Given the description of an element on the screen output the (x, y) to click on. 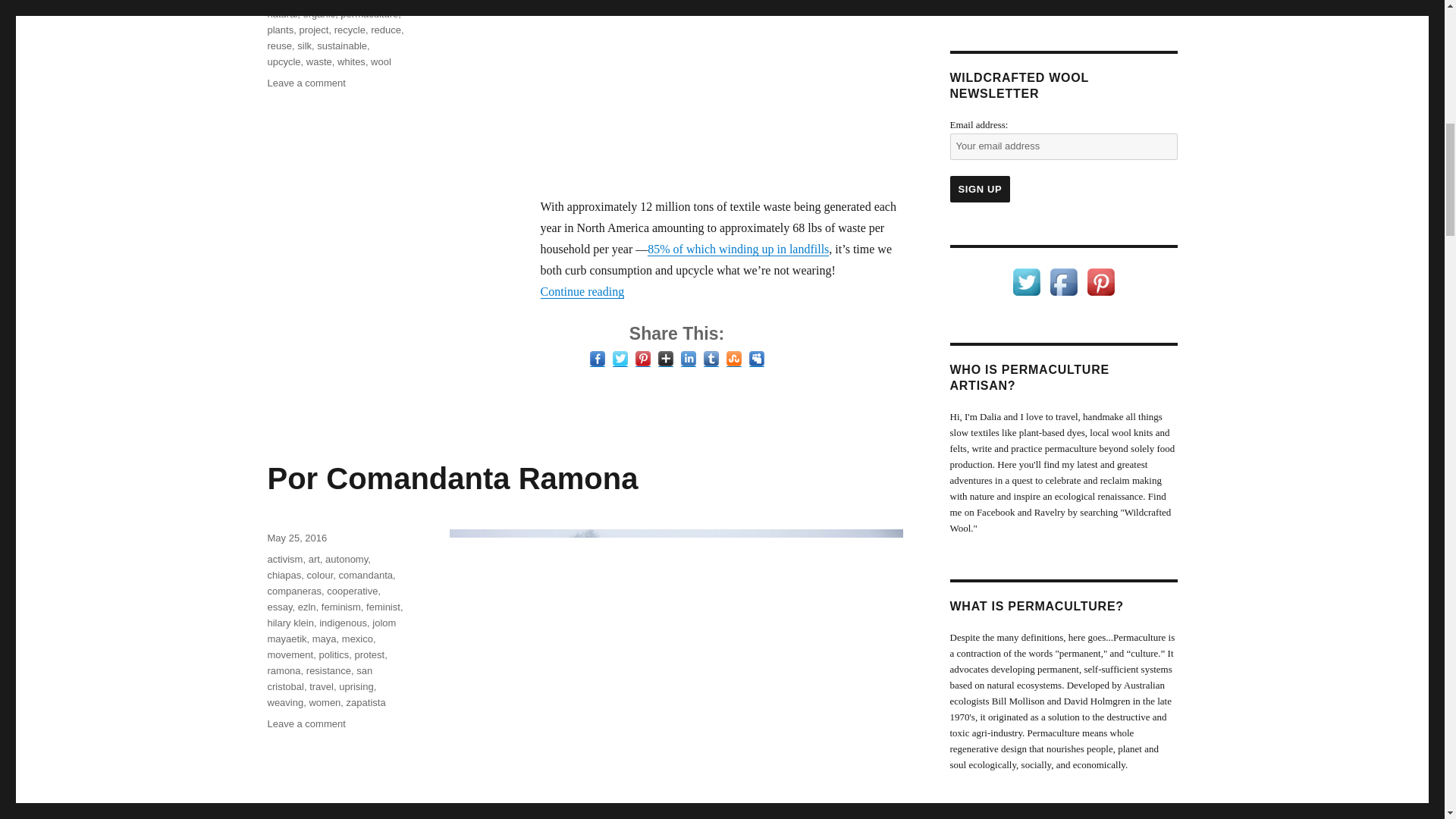
Visit Us On Facebook (1063, 280)
Visit Us On Twitter (1026, 280)
Sign up (979, 189)
Visit Us On Pinterest (1100, 280)
